Given the description of an element on the screen output the (x, y) to click on. 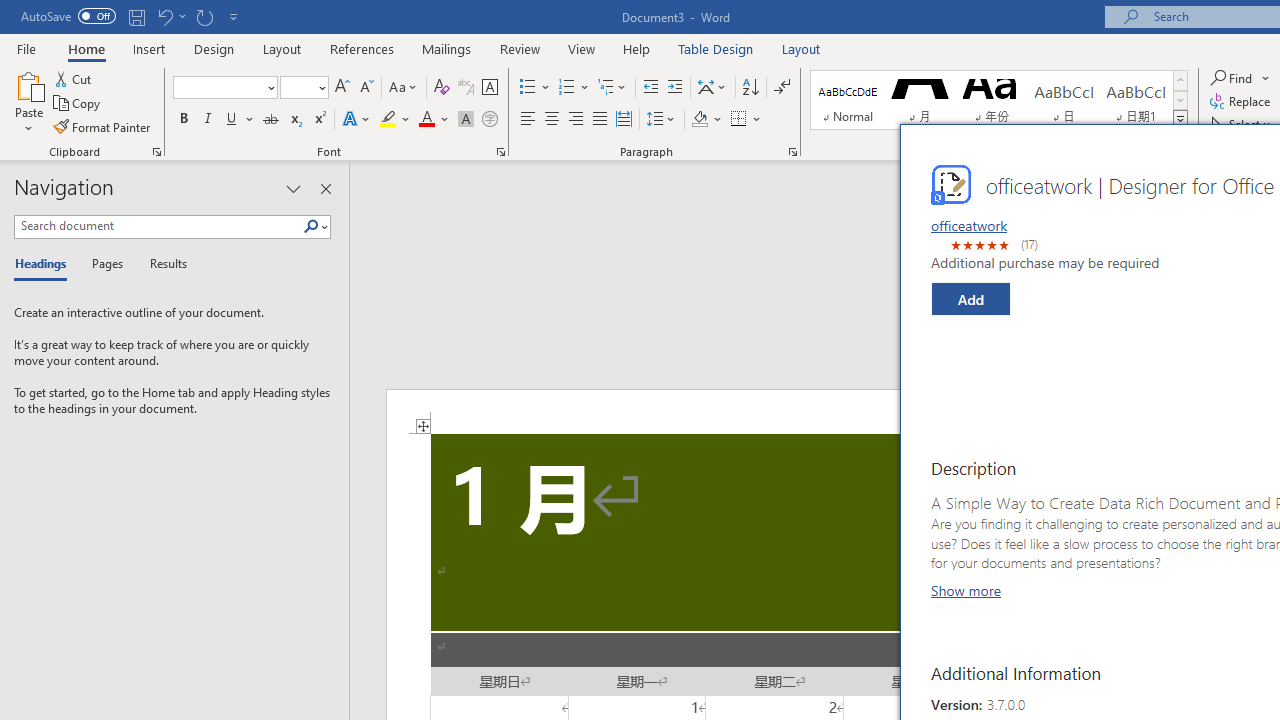
officeatwork (968, 225)
